Given the description of an element on the screen output the (x, y) to click on. 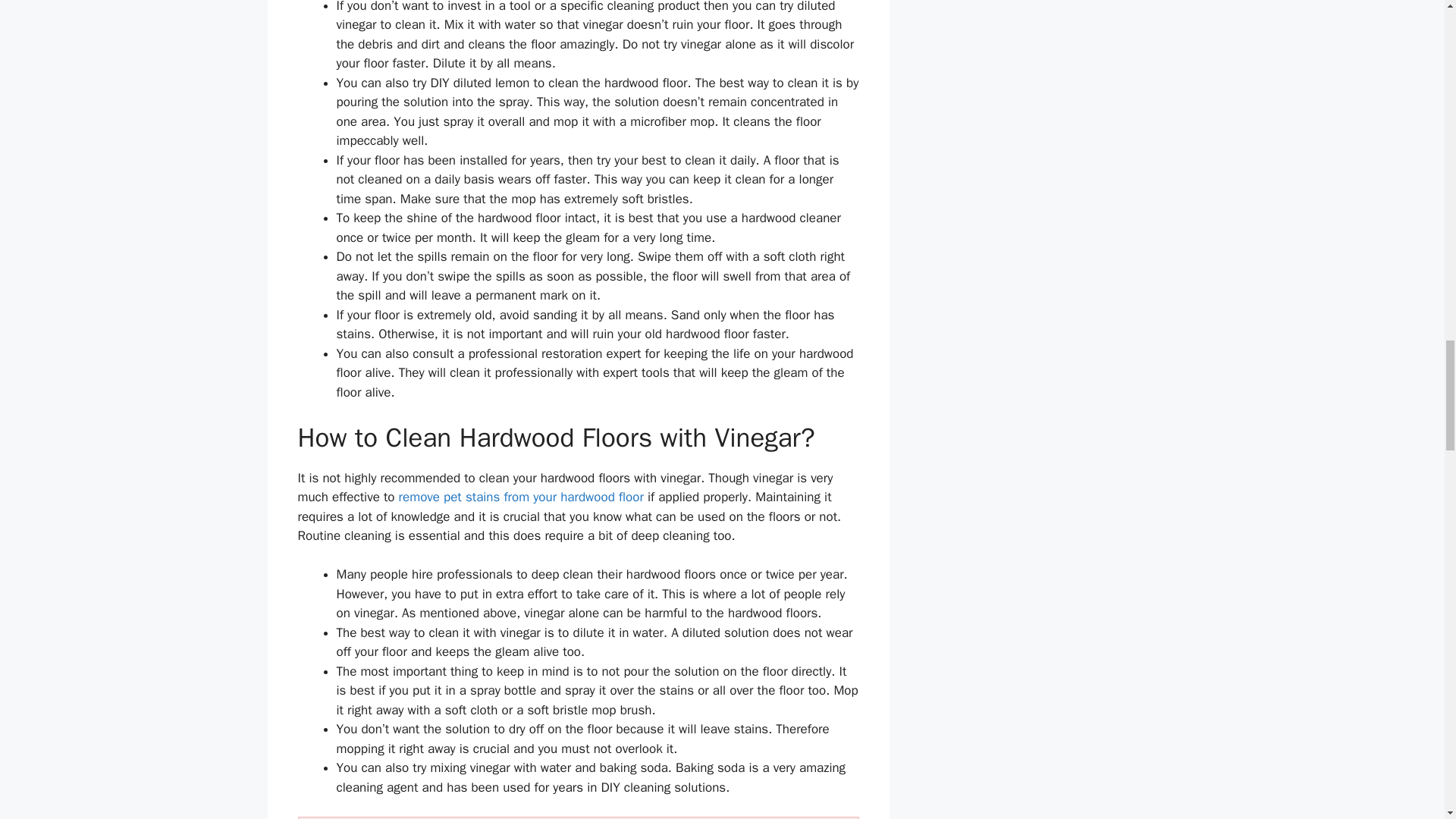
remove pet stains from your hardwood floor (520, 496)
